Given the description of an element on the screen output the (x, y) to click on. 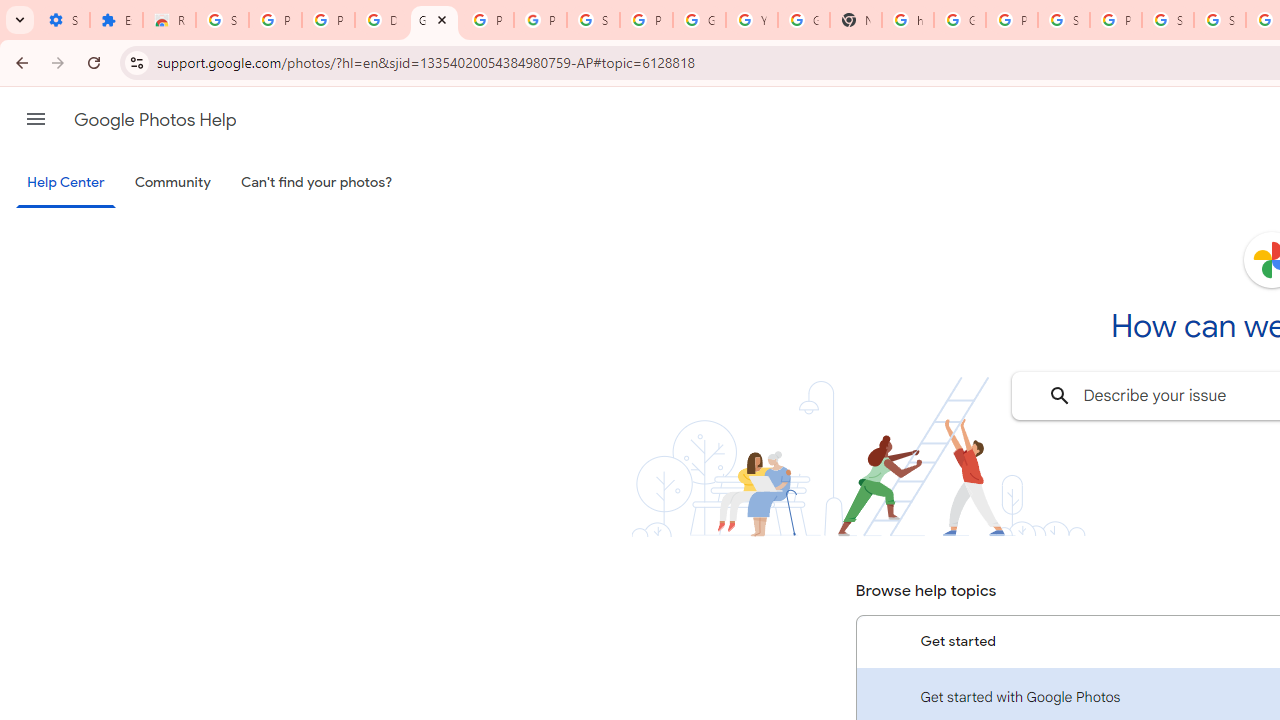
Sign in - Google Accounts (1167, 20)
Sign in - Google Accounts (593, 20)
Community (171, 183)
Reviews: Helix Fruit Jump Arcade Game (169, 20)
Sign in - Google Accounts (1219, 20)
Google Account (699, 20)
